Given the description of an element on the screen output the (x, y) to click on. 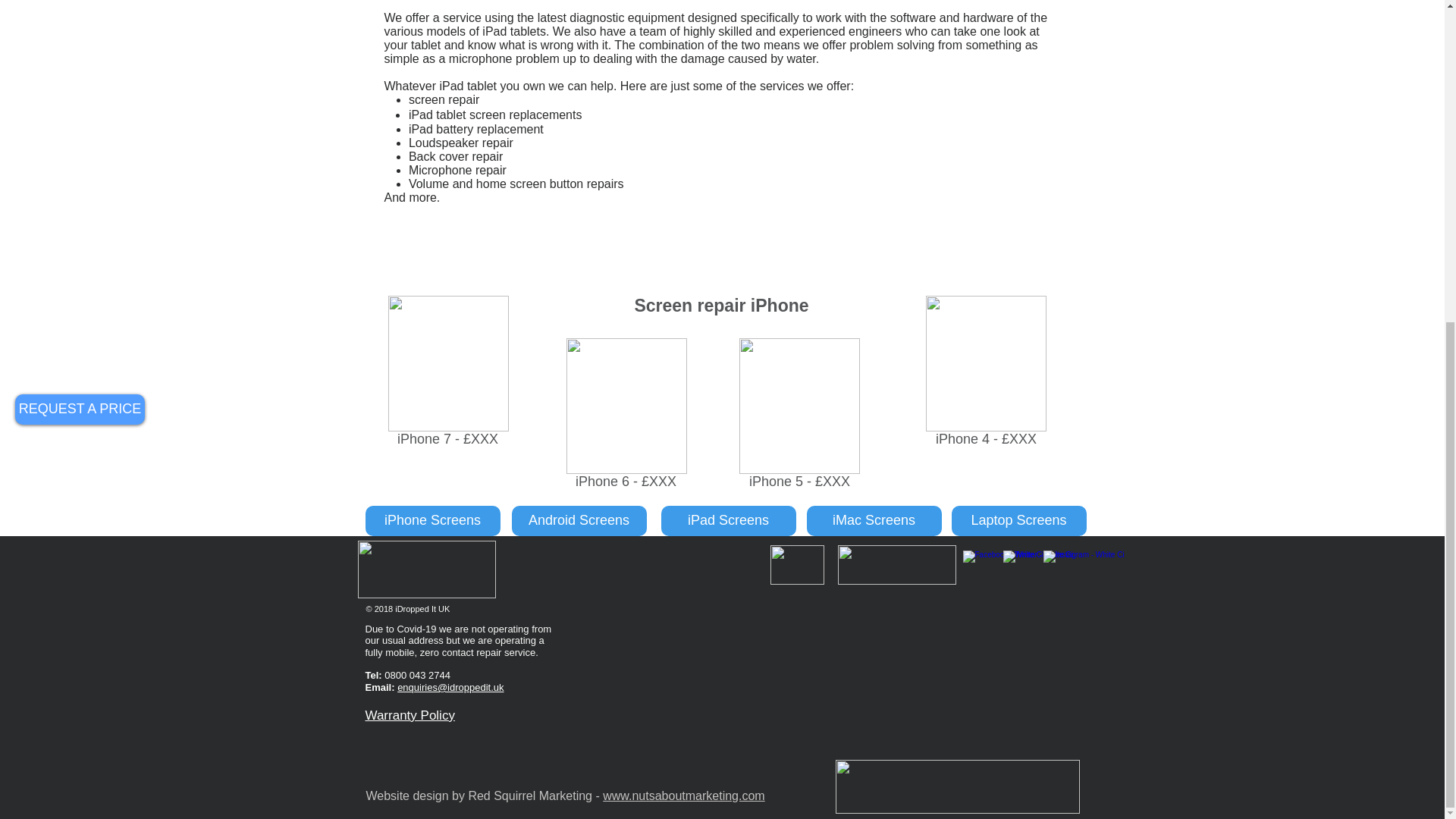
www.nutsaboutmarketing.com (683, 795)
Warranty Policy (409, 715)
